Given the description of an element on the screen output the (x, y) to click on. 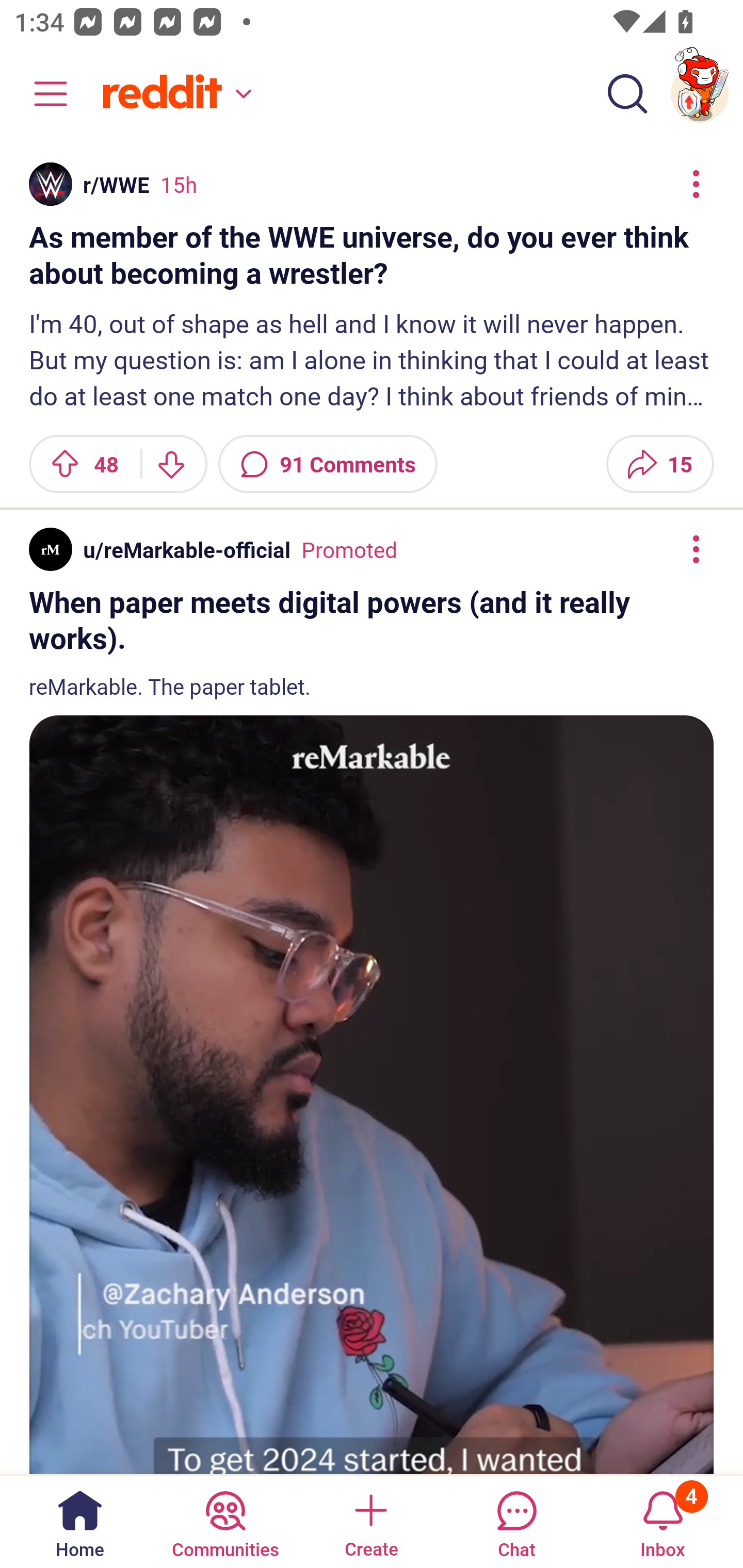
Search (626, 93)
TestAppium002 account (699, 93)
Community menu (41, 94)
Home feed (173, 94)
Home (80, 1520)
Communities (225, 1520)
Create a post Create (370, 1520)
Chat (516, 1520)
Inbox, has 4 notifications 4 Inbox (662, 1520)
